Given the description of an element on the screen output the (x, y) to click on. 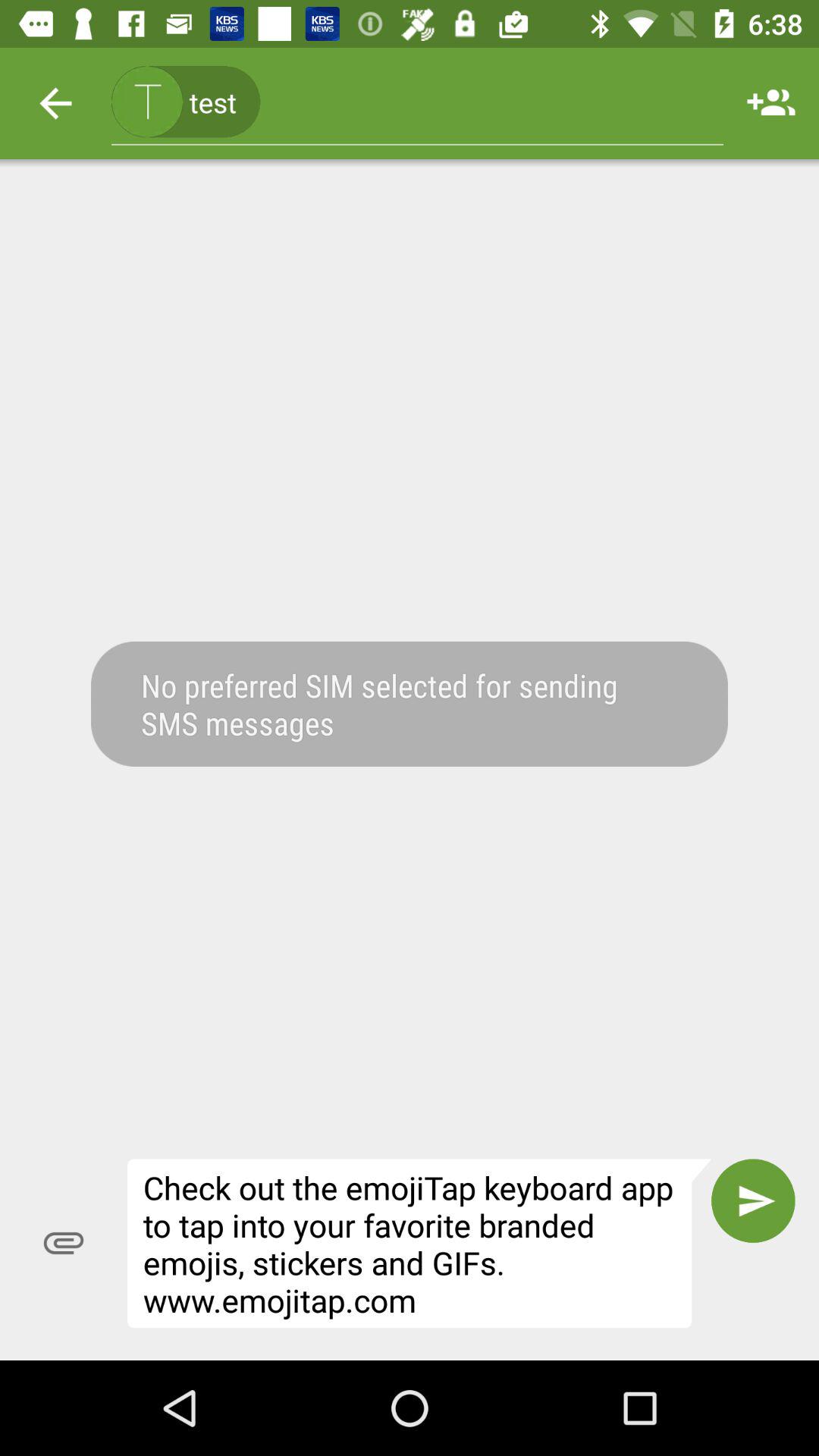
turn off the icon next to the check out the item (753, 1200)
